Given the description of an element on the screen output the (x, y) to click on. 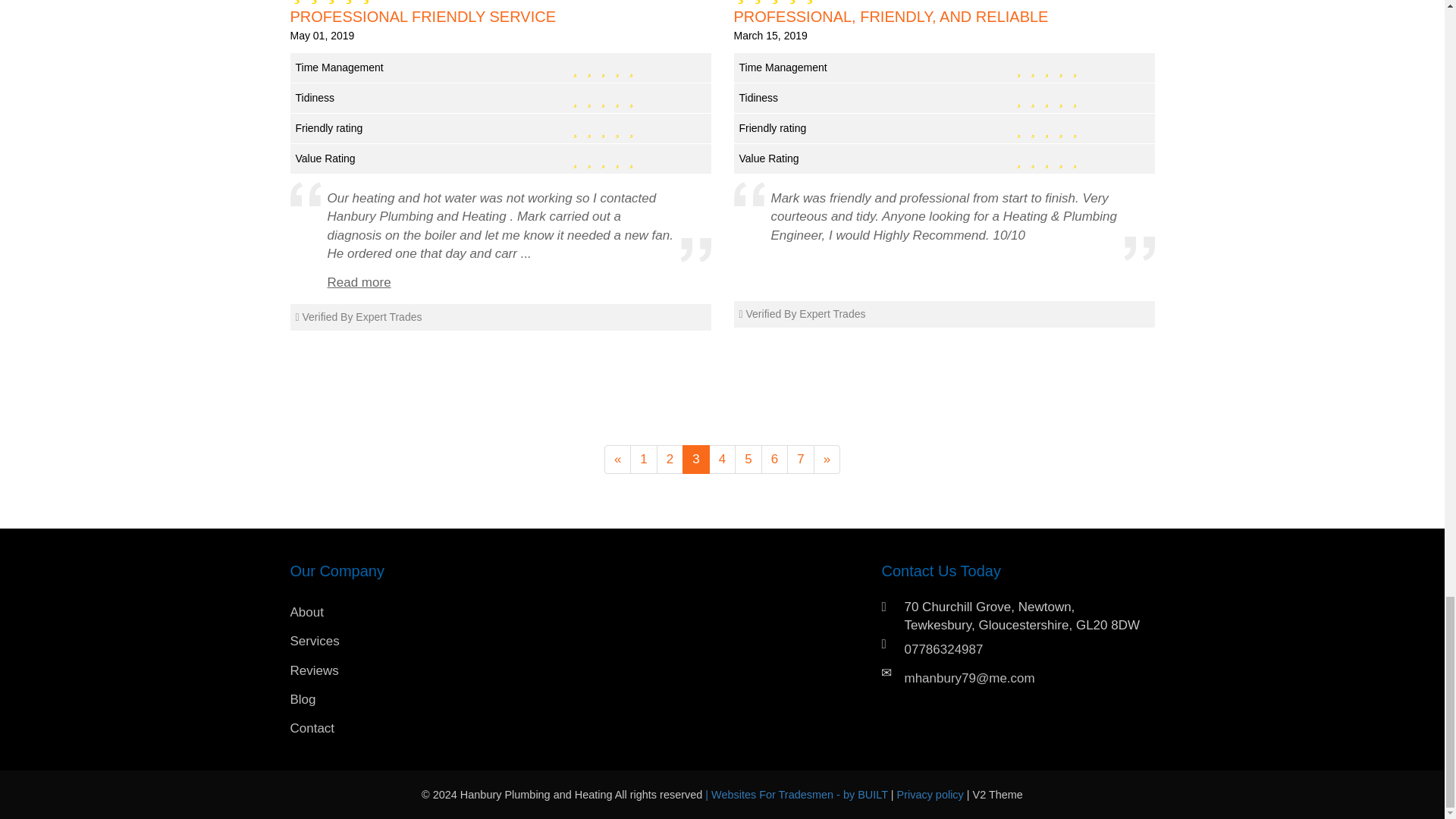
PROFESSIONAL FRIENDLY SERVICE (499, 16)
PROFESSIONAL, FRIENDLY, AND RELIABLE (943, 16)
Read more (359, 282)
